Given the description of an element on the screen output the (x, y) to click on. 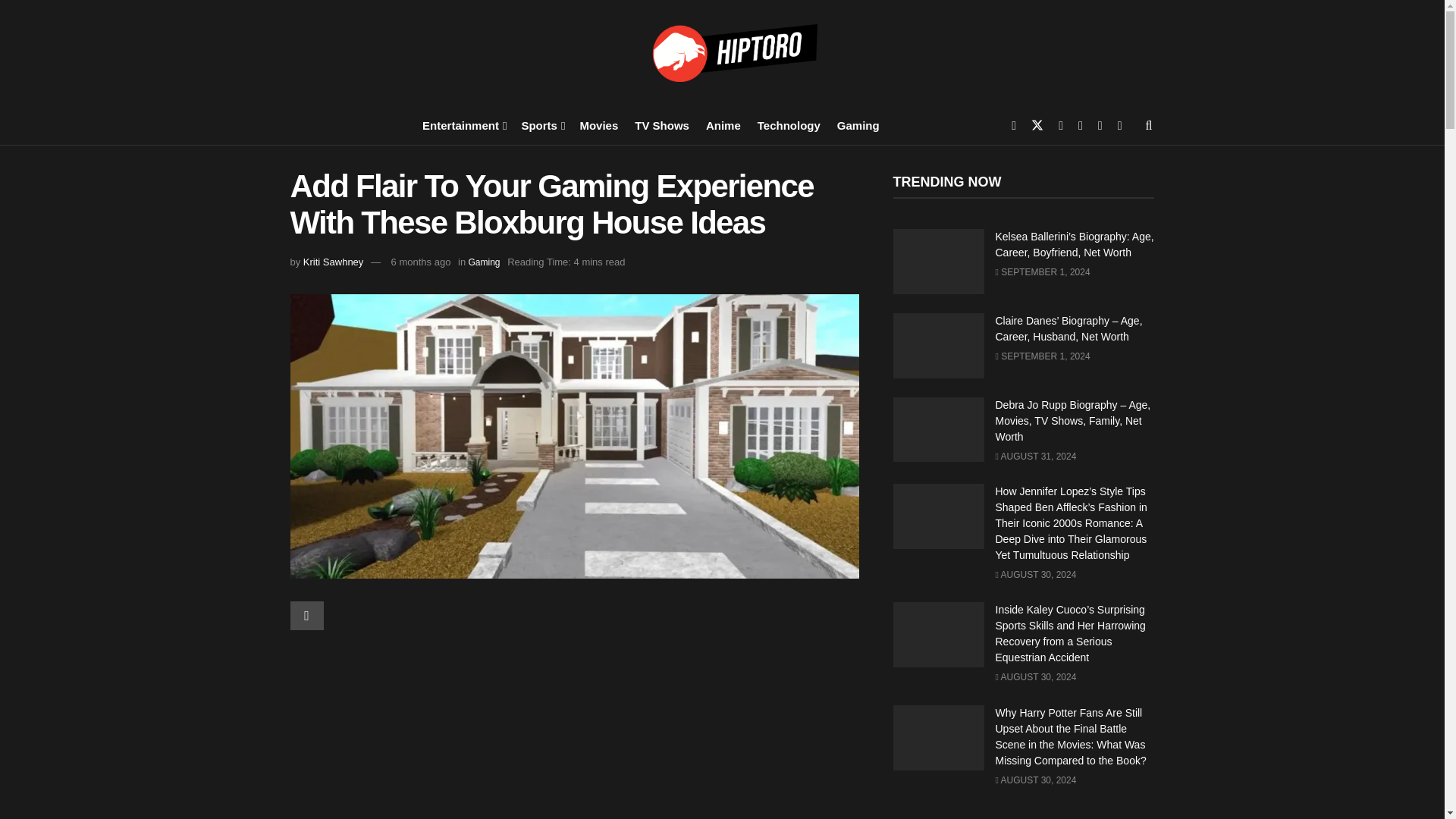
Sports (541, 124)
Technology (789, 124)
Movies (598, 124)
TV Shows (661, 124)
Anime (723, 124)
Gaming (858, 124)
Entertainment (462, 124)
Gaming (483, 262)
6 months ago (421, 261)
Kriti Sawhney (332, 261)
